Given the description of an element on the screen output the (x, y) to click on. 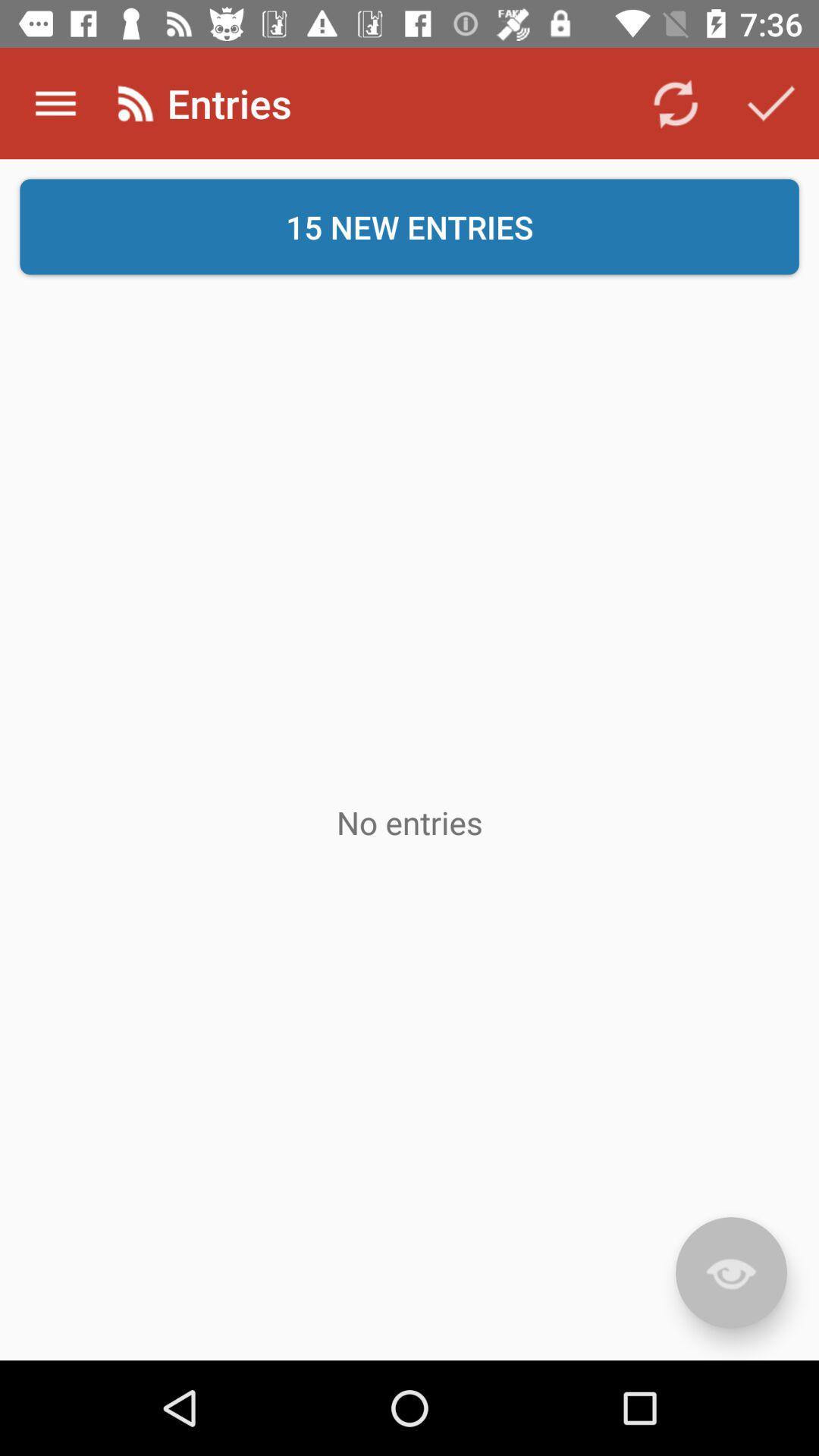
turn on the button above 15 new entries item (55, 103)
